Given the description of an element on the screen output the (x, y) to click on. 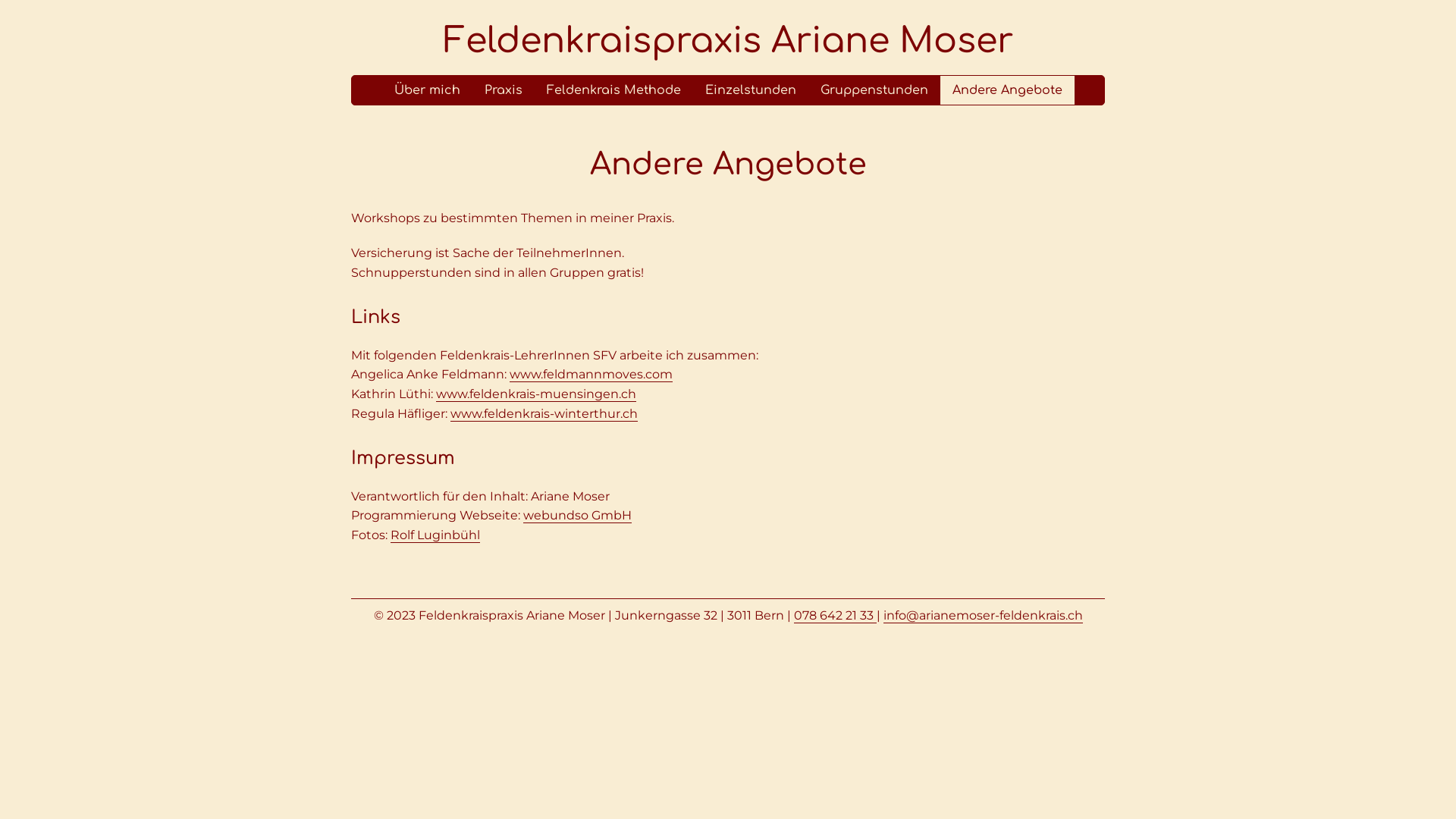
info@arianemoser-feldenkrais.ch Element type: text (982, 615)
Feldenkrais Methode Element type: text (612, 89)
Feldenkraispraxis
Ariane Moser Element type: text (727, 40)
Gruppenstunden Element type: text (874, 89)
Praxis Element type: text (502, 89)
078 642 21 33 Element type: text (834, 615)
www.feldenkrais-muensingen.ch Element type: text (536, 393)
webundso GmbH Element type: text (577, 515)
www.feldmannmoves.com Element type: text (590, 374)
Andere Angebote Element type: text (1007, 89)
Einzelstunden Element type: text (750, 89)
www.feldenkrais-winterthur.ch Element type: text (543, 413)
